Given the description of an element on the screen output the (x, y) to click on. 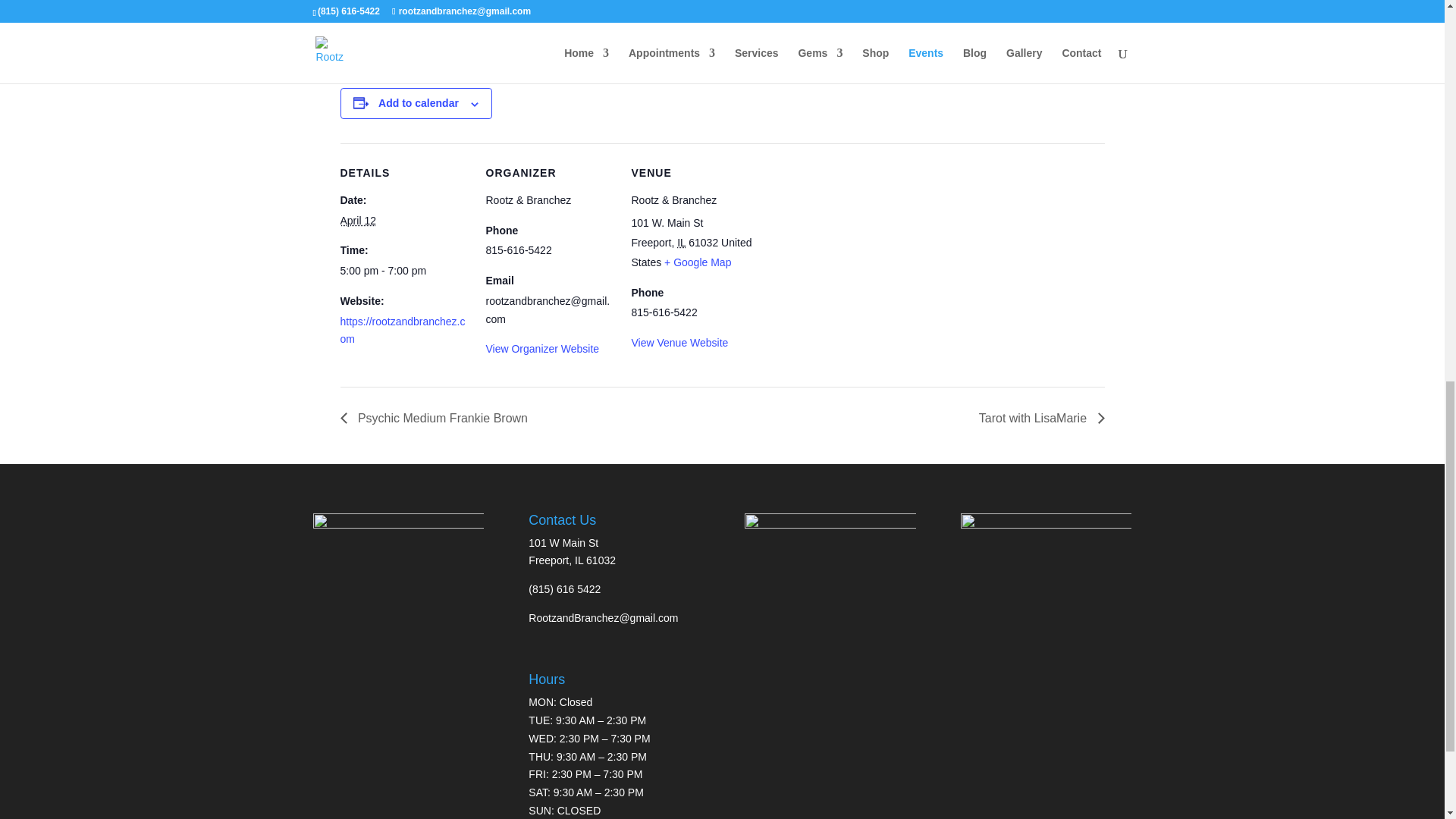
Psychic Medium Frankie Brown (437, 418)
View Venue Website (679, 342)
Click to view a Google Map (696, 262)
Tarot with LisaMarie (1038, 418)
Add to calendar (418, 102)
2024-04-12 (357, 220)
View Organizer Website (541, 348)
2024-04-12 (403, 271)
